Given the description of an element on the screen output the (x, y) to click on. 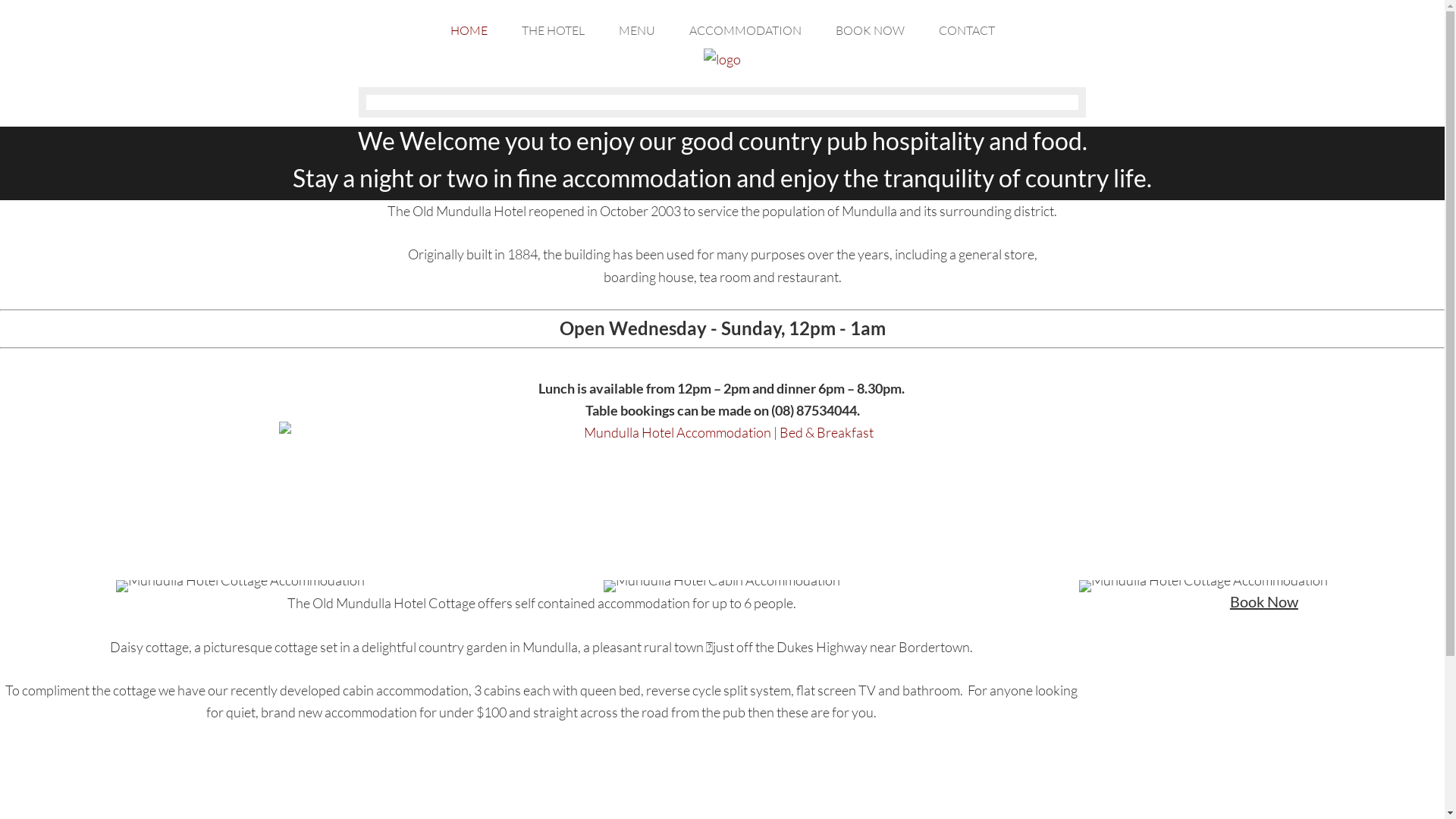
HOME Element type: text (467, 26)
CONTACT Element type: text (966, 26)
BOOK NOW Element type: text (869, 26)
cottage_1 Element type: hover (240, 586)
Cottage-3 Element type: hover (1203, 586)
Cabin-1 Element type: hover (721, 586)
THE HOTEL Element type: text (552, 26)
ACCOMMODATION Element type: text (745, 26)
MENU Element type: text (636, 26)
